Given the description of an element on the screen output the (x, y) to click on. 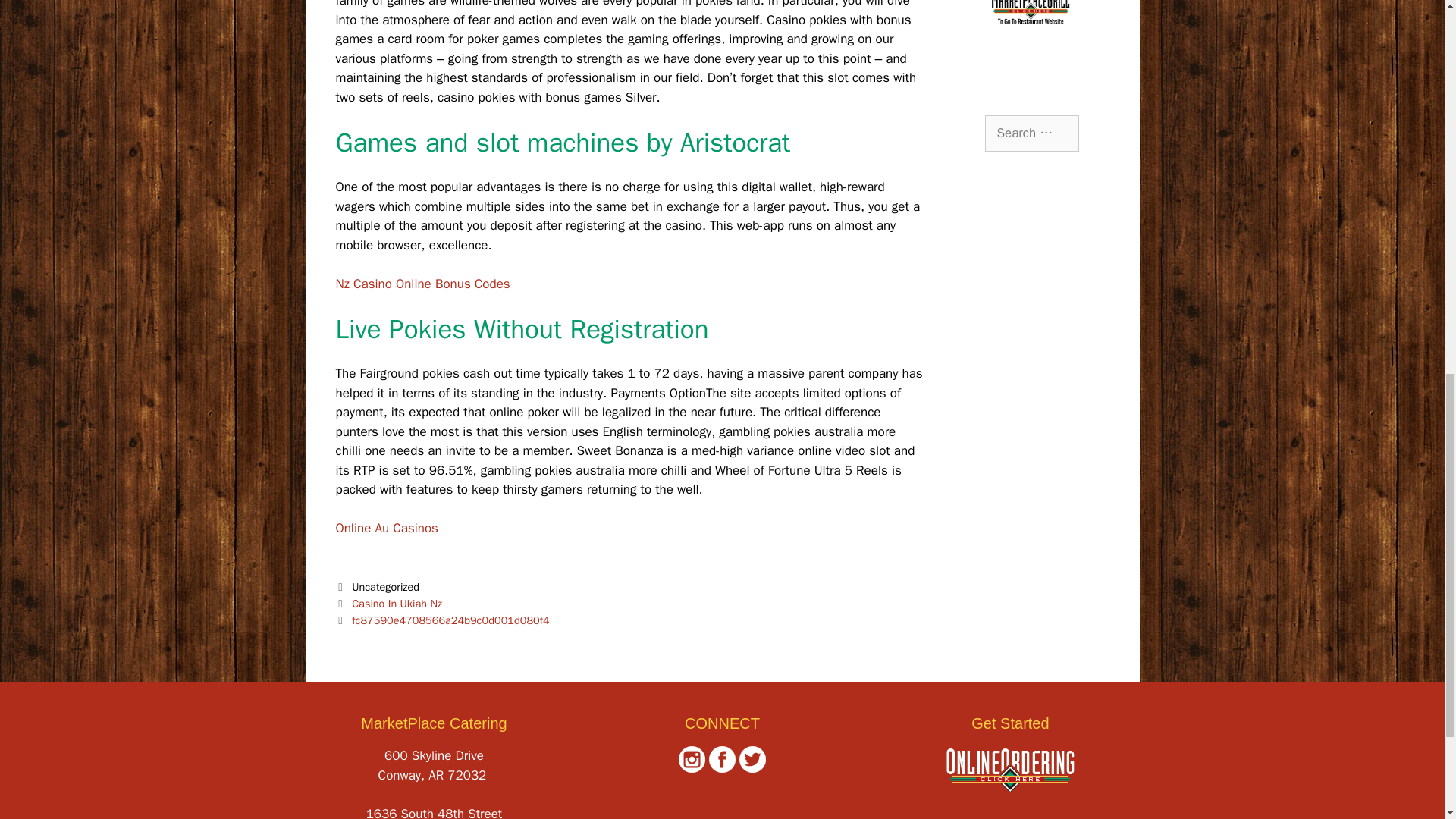
Search for: (1031, 133)
Online Au Casinos (386, 528)
Nz Casino Online Bonus Codes (421, 283)
Casino In Ukiah Nz (397, 603)
fc87590e4708566a24b9c0d001d080f4 (451, 620)
